Given the description of an element on the screen output the (x, y) to click on. 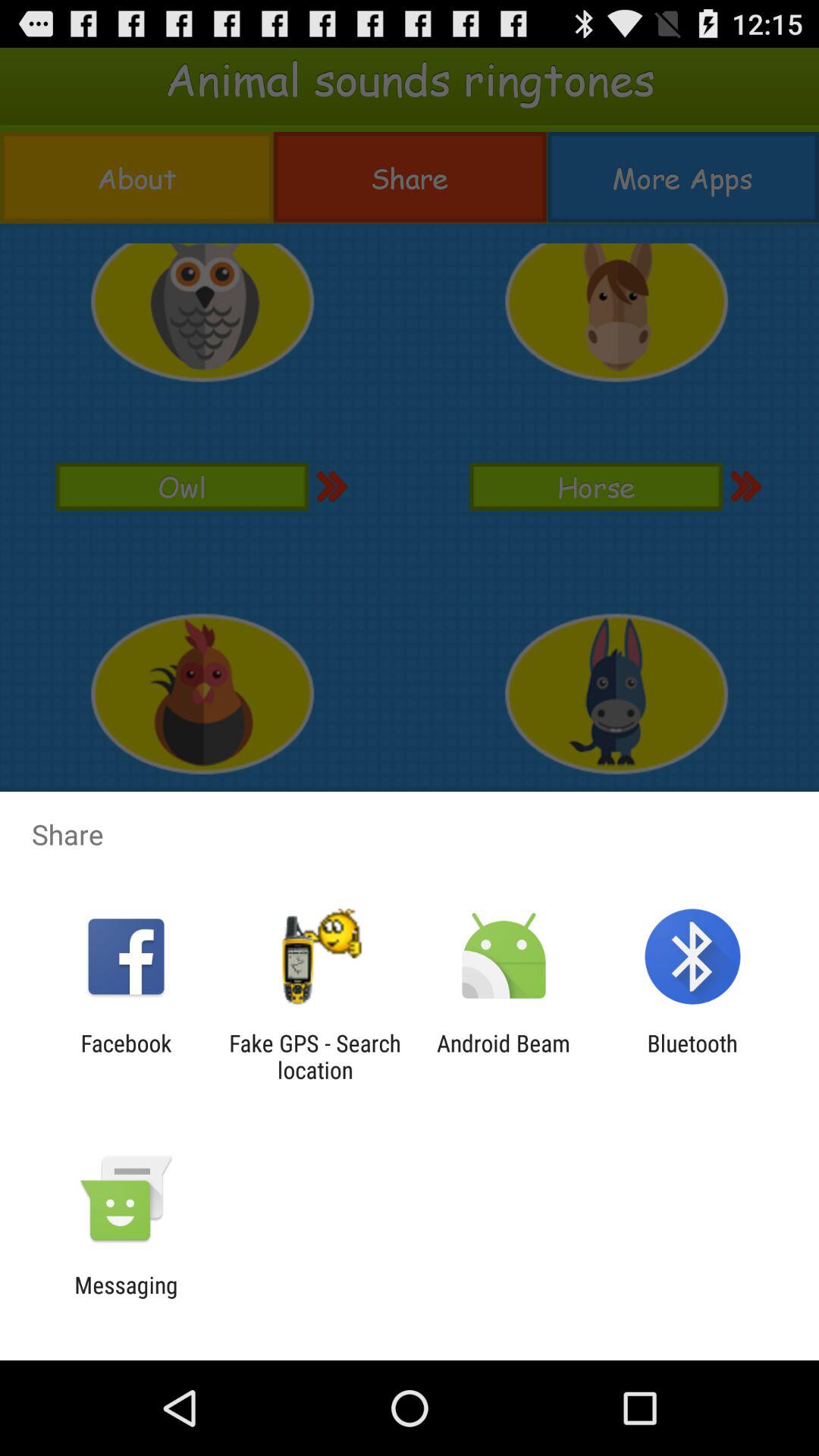
select item to the left of android beam item (314, 1056)
